Given the description of an element on the screen output the (x, y) to click on. 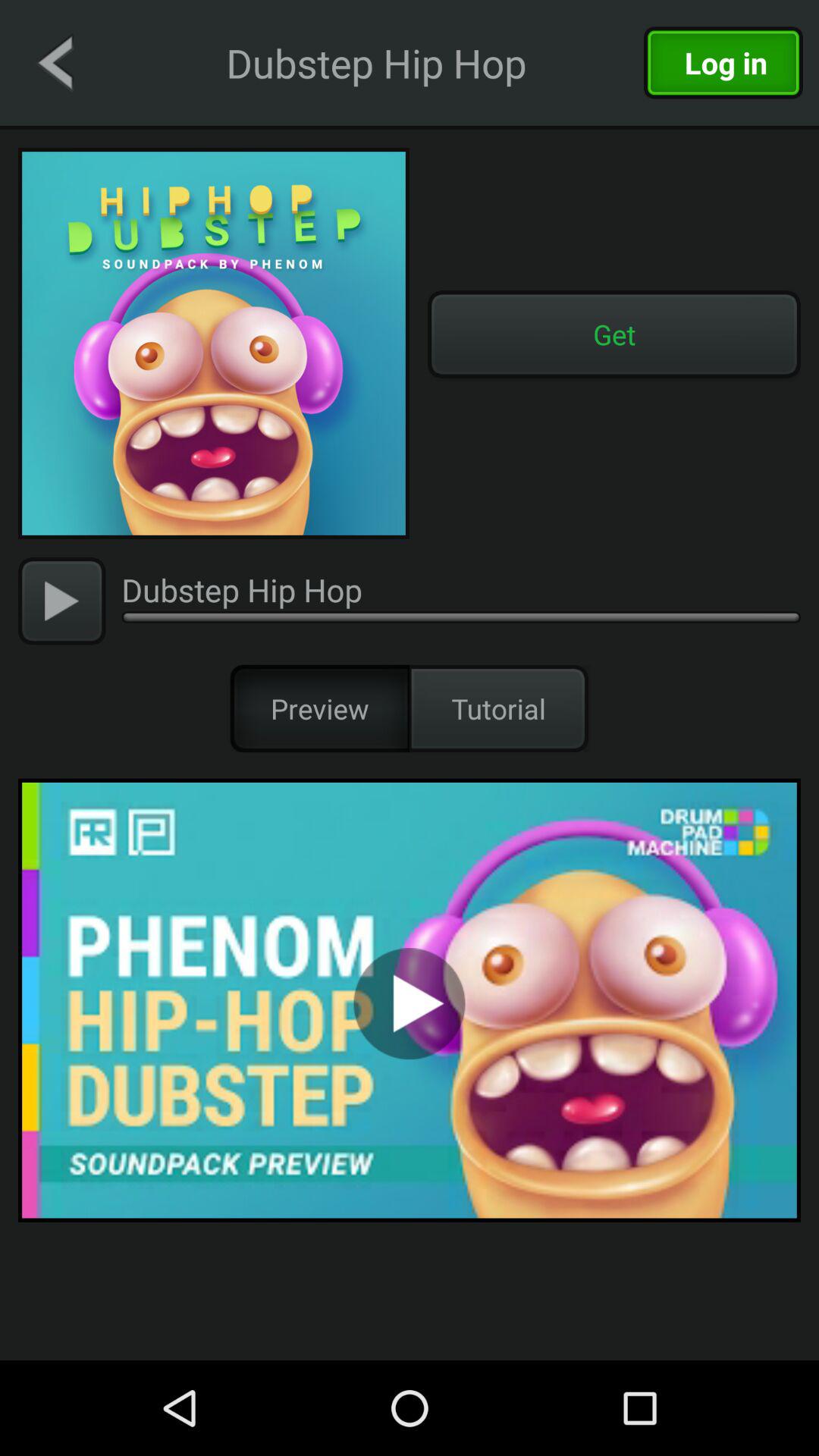
turn off icon next to the tutorial (319, 708)
